Given the description of an element on the screen output the (x, y) to click on. 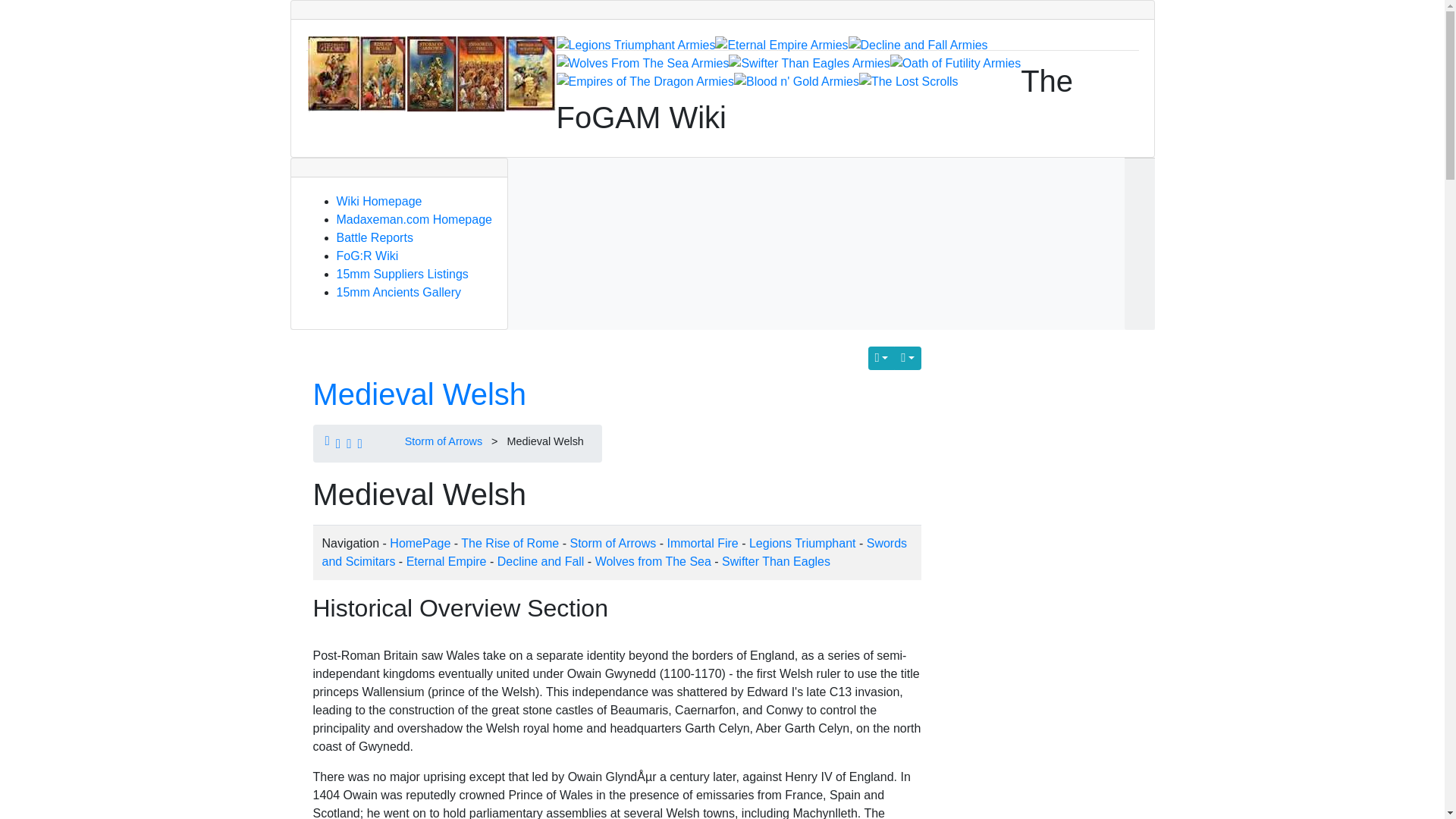
Storm of Arrows (442, 440)
refresh (419, 394)
Battle Reports (374, 237)
Infernal Empire Armies (780, 45)
Madaxeman.com Homepage (414, 219)
Decline and Fall (541, 561)
Eternal Empire (446, 561)
HomePage (419, 543)
Sweatier than Beagles Armies (809, 63)
Wiki Homepage (379, 201)
